Given the description of an element on the screen output the (x, y) to click on. 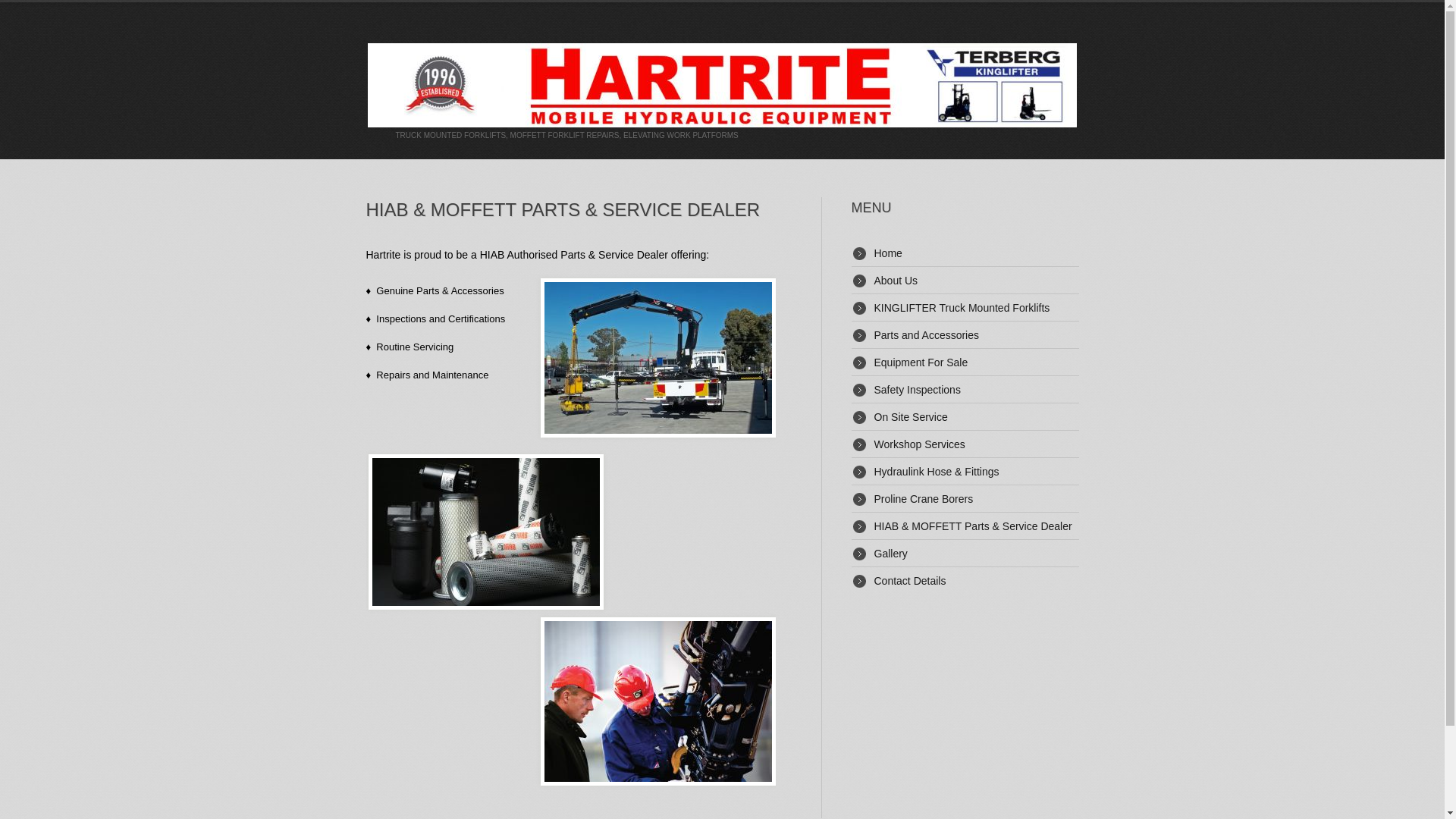
Hydraulink Hose & Fittings Element type: text (935, 471)
On Site Service Element type: text (910, 417)
Home Element type: text (887, 253)
KINGLIFTER Truck Mounted Forklifts Element type: text (961, 307)
Safety Inspections Element type: text (916, 389)
About Us Element type: text (895, 280)
HIAB & MOFFETT Parts & Service Dealer Element type: text (972, 526)
Gallery Element type: text (889, 553)
Workshop Services Element type: text (918, 444)
Equipment For Sale Element type: text (920, 362)
Parts and Accessories Element type: text (926, 335)
Proline Crane Borers Element type: text (922, 498)
Contact Details Element type: text (909, 580)
